Given the description of an element on the screen output the (x, y) to click on. 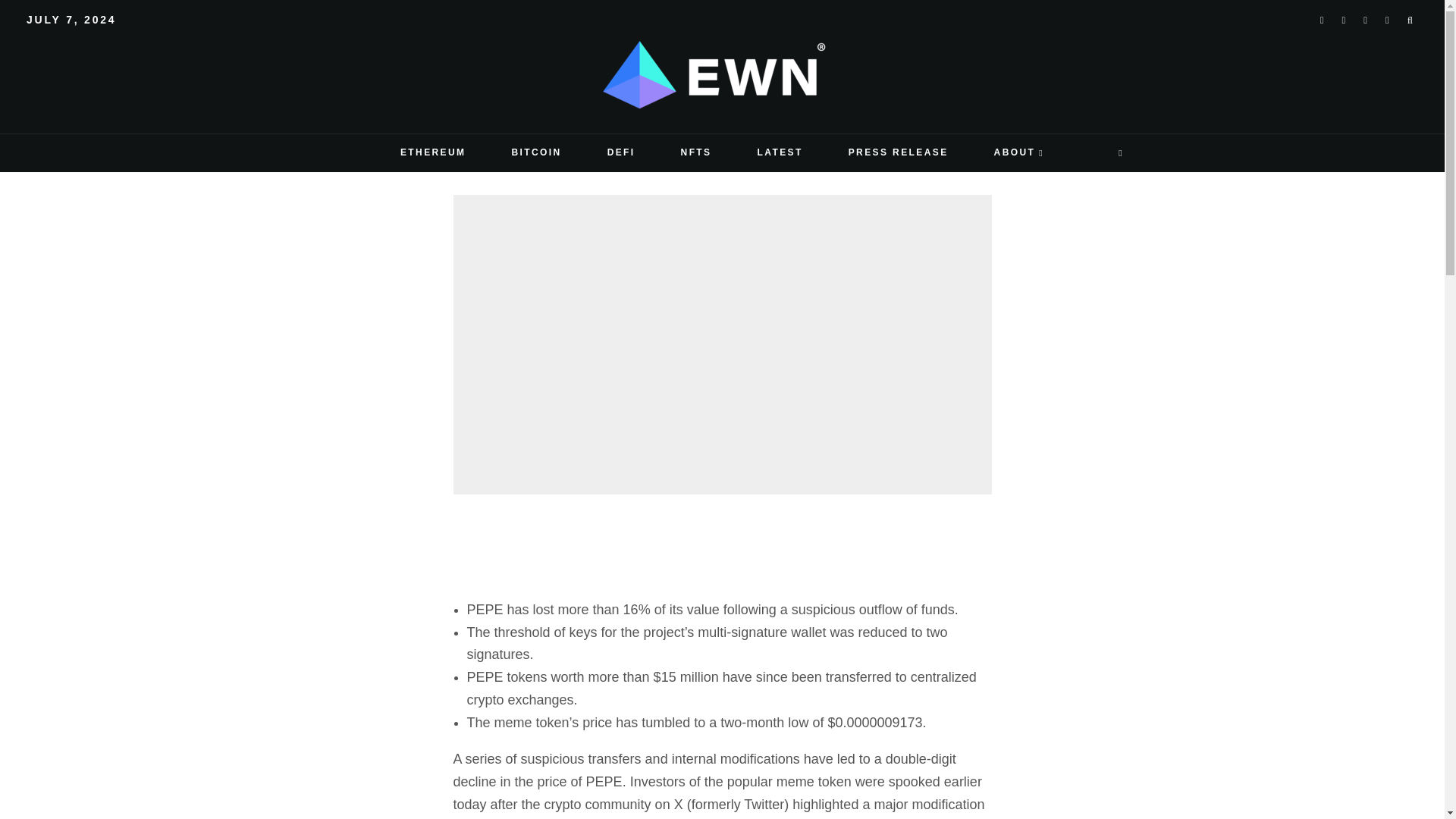
BITCOIN (535, 152)
ETHEREUM (433, 152)
NFTS (696, 152)
DEFI (621, 152)
